Given the description of an element on the screen output the (x, y) to click on. 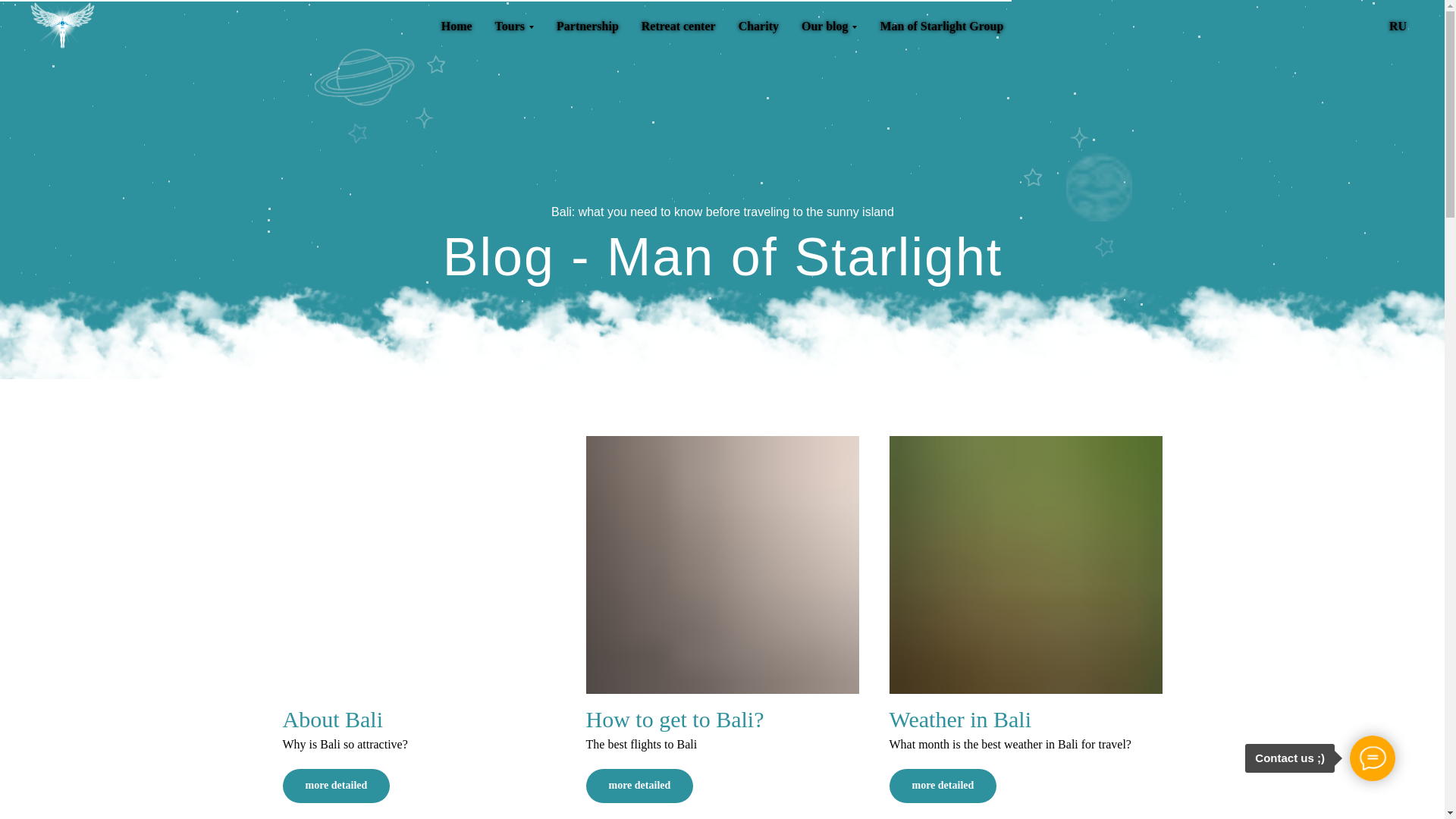
Retreat center (679, 25)
Home (456, 25)
Our blog (829, 25)
RU (1397, 25)
Tours (514, 25)
Partnership (587, 25)
Charity (758, 25)
Man of Starlight Group (941, 25)
